Given the description of an element on the screen output the (x, y) to click on. 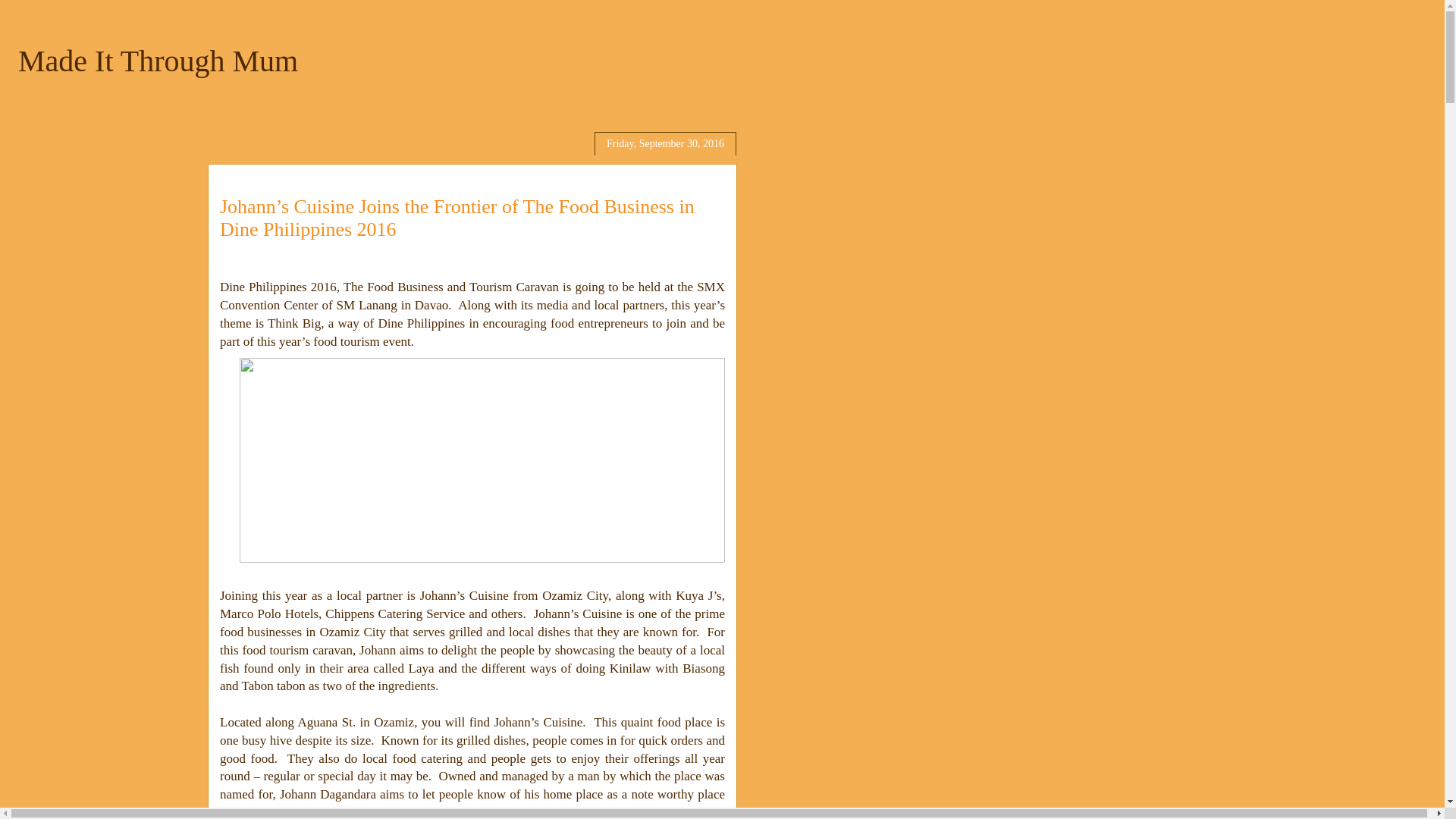
Made It Through Mum (157, 60)
